Given the description of an element on the screen output the (x, y) to click on. 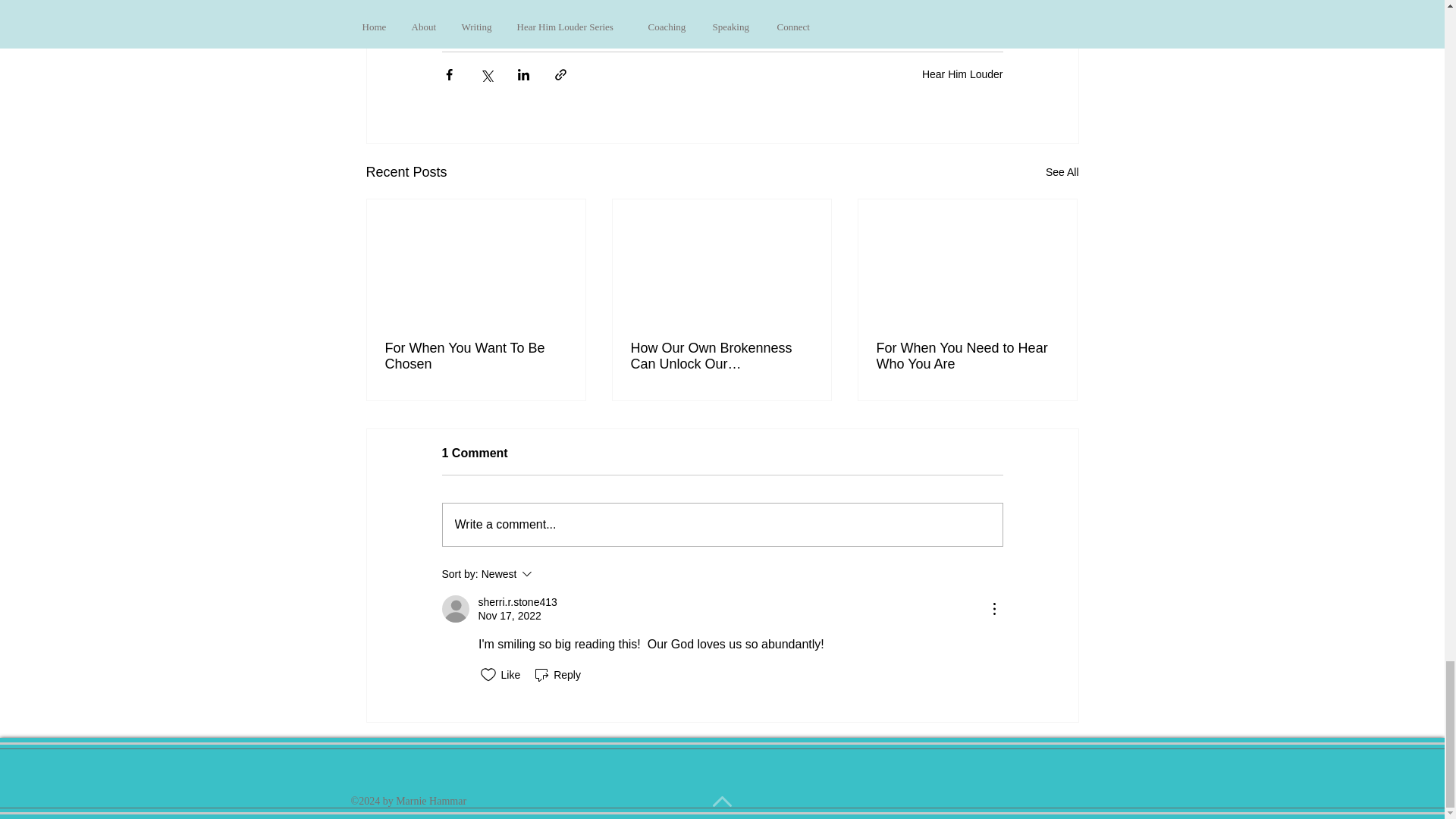
Reply (556, 674)
How Our Own Brokenness Can Unlock Our Unforgiveness (721, 356)
See All (1061, 172)
Hear Him Louder (962, 73)
For When You Want To Be Chosen (547, 574)
Write a comment... (476, 356)
For When You Need to Hear Who You Are (722, 524)
